Given the description of an element on the screen output the (x, y) to click on. 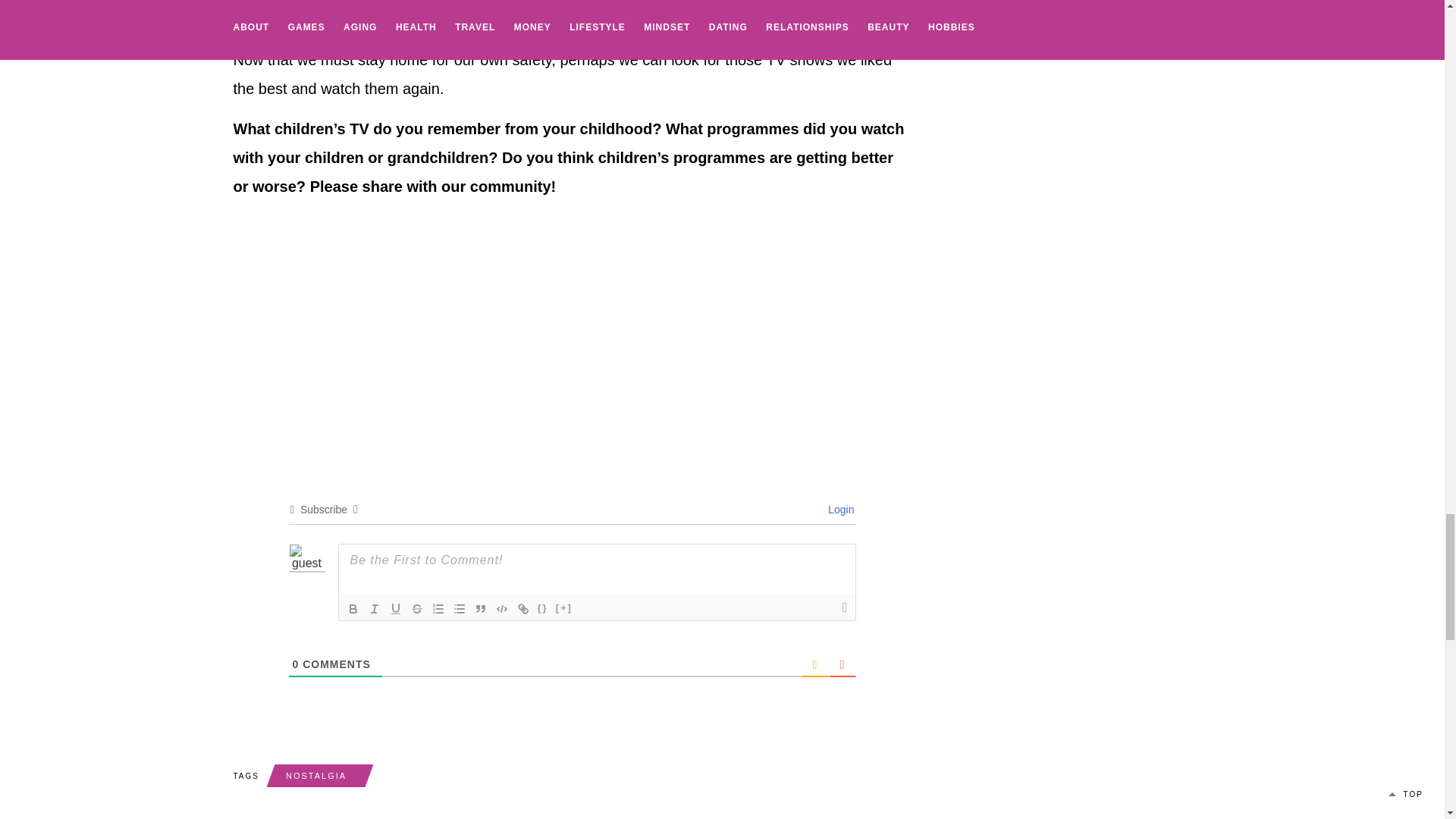
Bold (353, 608)
Link (523, 608)
Strike (417, 608)
Ordered List (438, 608)
Italic (374, 608)
Spoiler (563, 608)
Underline (395, 608)
Code Block (502, 608)
Unordered List (459, 608)
Blockquote (481, 608)
Source Code (542, 608)
